Given the description of an element on the screen output the (x, y) to click on. 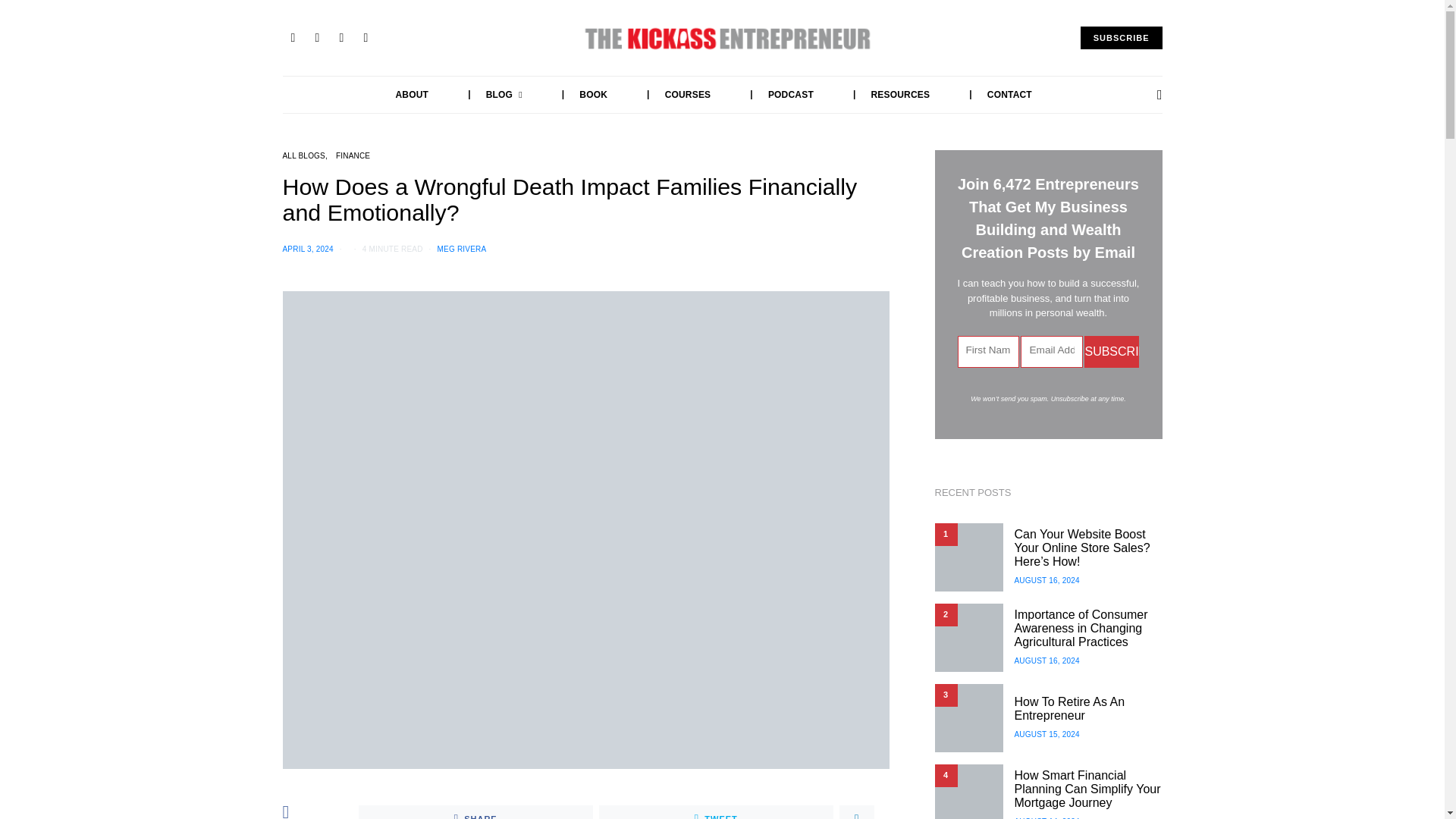
View all posts by Meg Rivera (462, 248)
ABOUT (412, 94)
SUBSCRIBE (1120, 37)
BLOG (487, 94)
